Given the description of an element on the screen output the (x, y) to click on. 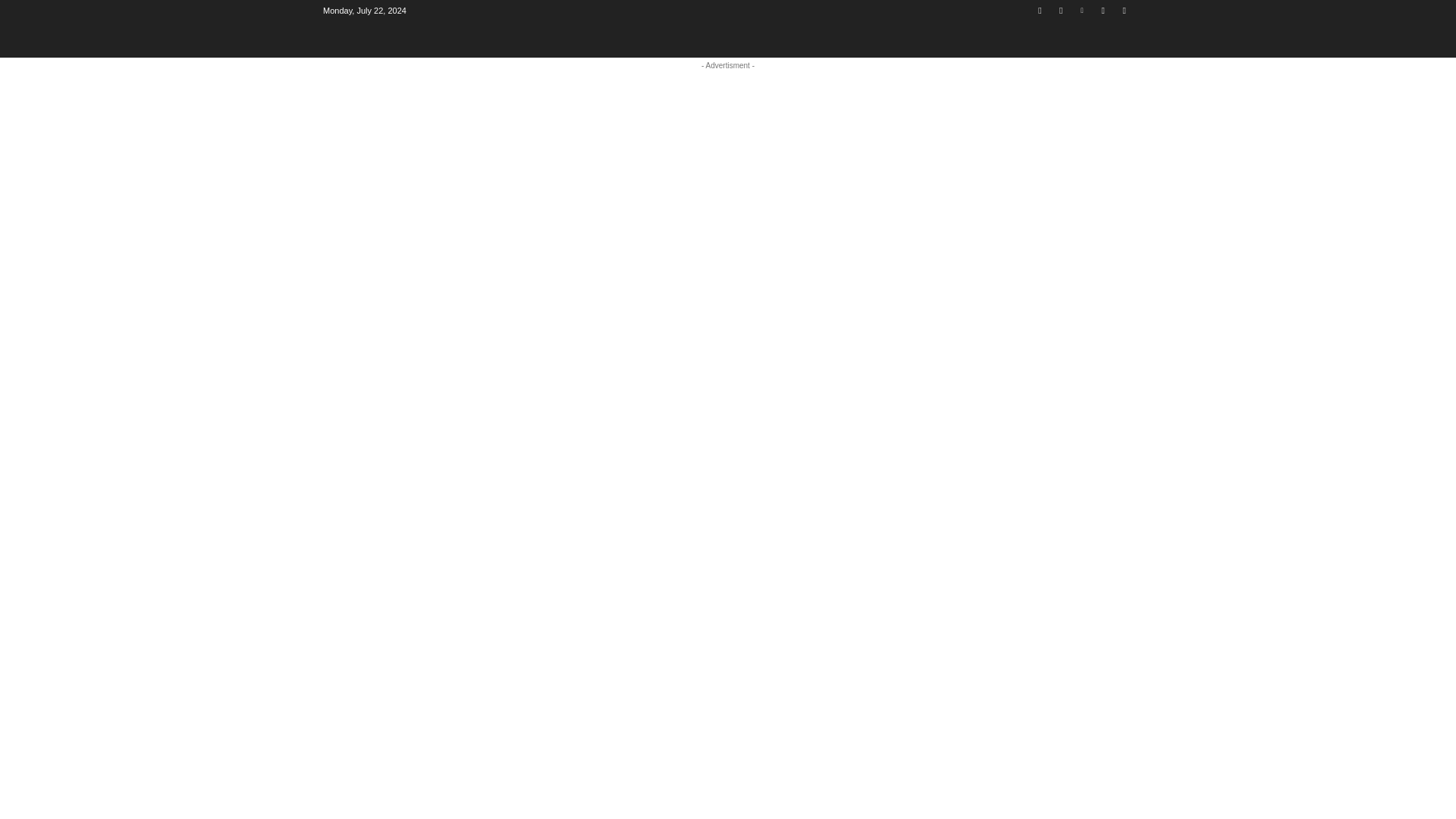
Linkedin (1082, 9)
Facebook (1039, 9)
Youtube (1061, 9)
Rss (1103, 9)
Twitter (1123, 9)
